Given the description of an element on the screen output the (x, y) to click on. 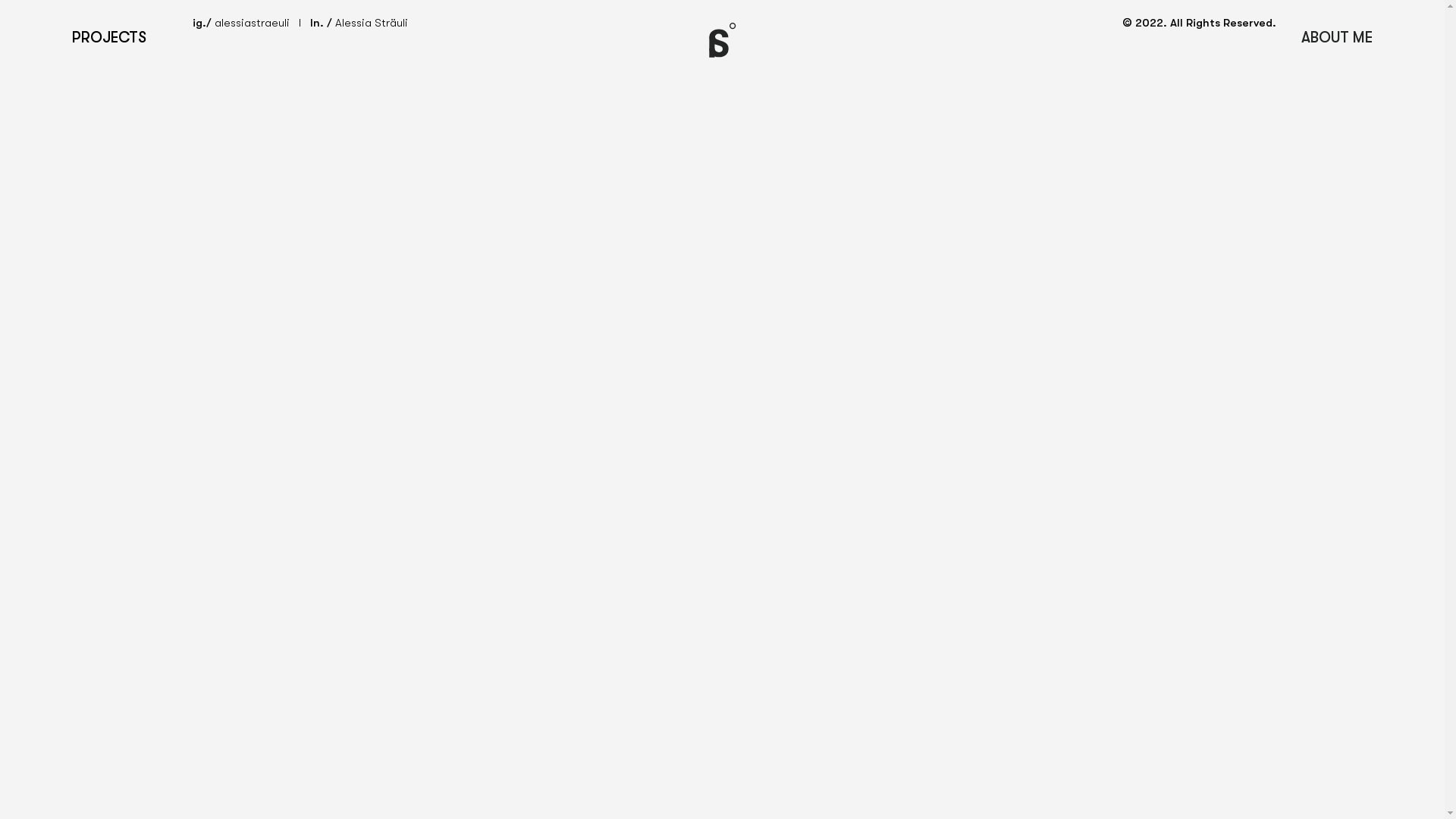
alessiastraeuli Element type: text (251, 22)
ABOUT ME Element type: text (1336, 37)
PROJECTS Element type: text (109, 37)
